Given the description of an element on the screen output the (x, y) to click on. 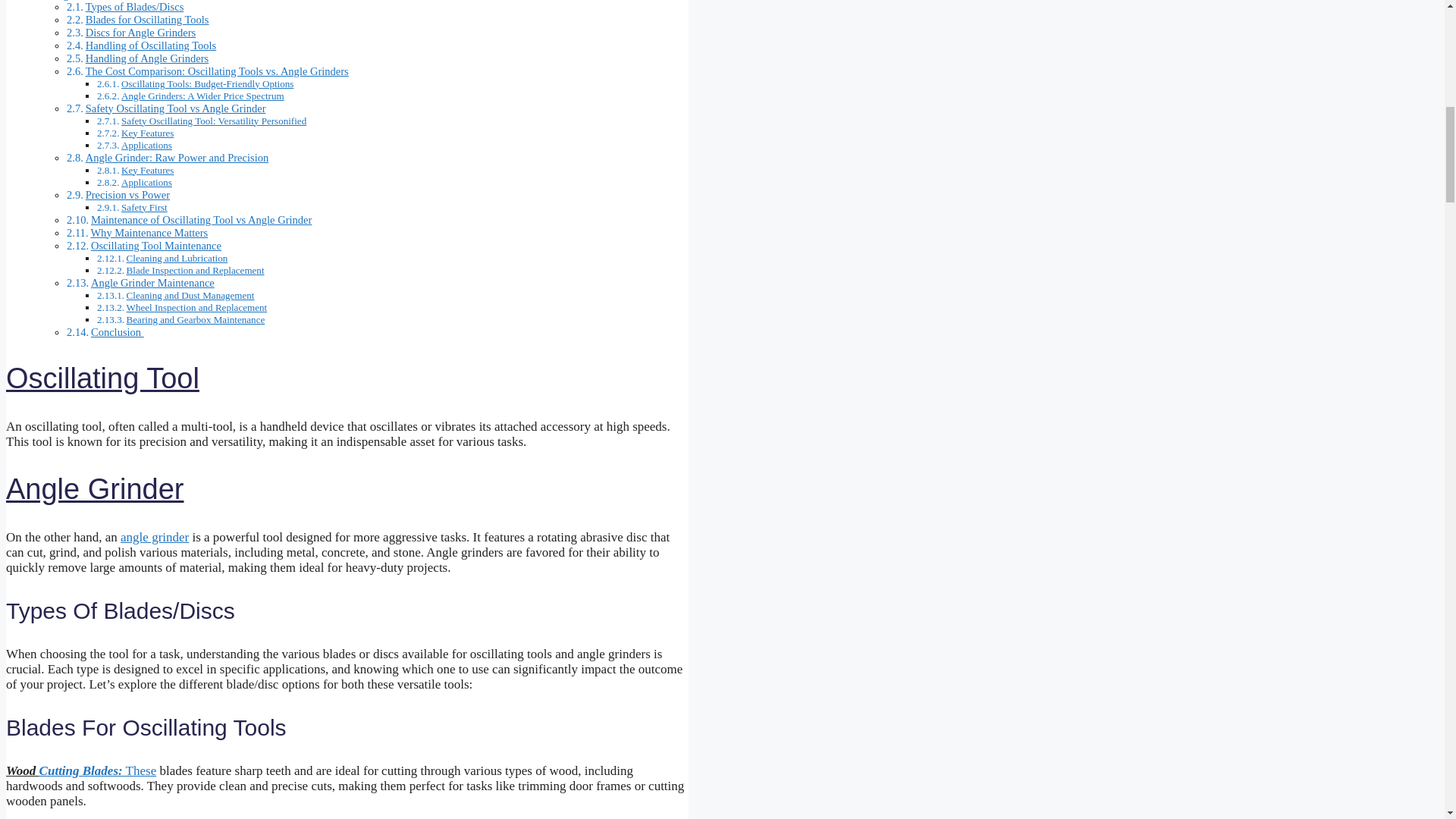
Safety Oscillating Tool vs Angle Grinder (175, 107)
The Cost Comparison: Oscillating Tools vs. Angle Grinders (217, 70)
Safety Oscillating Tool: Versatility Personified (212, 120)
Angle Grinders: A Wider Price Spectrum (201, 94)
Discs for Angle Grinders (140, 31)
Safety First (143, 206)
Angle Grinders: A Wider Price Spectrum (201, 94)
Maintenance of Oscillating Tool vs Angle Grinder (200, 219)
Precision vs Power (127, 193)
Safety Oscillating Tool: Versatility Personified (212, 120)
Handling of Angle Grinders (146, 57)
Angle Grinder Maintenance (152, 282)
Oscillating Tools: Budget-Friendly Options (207, 82)
Discs for Angle Grinders (140, 31)
Angle Grinder: Raw Power and Precision (176, 157)
